Given the description of an element on the screen output the (x, y) to click on. 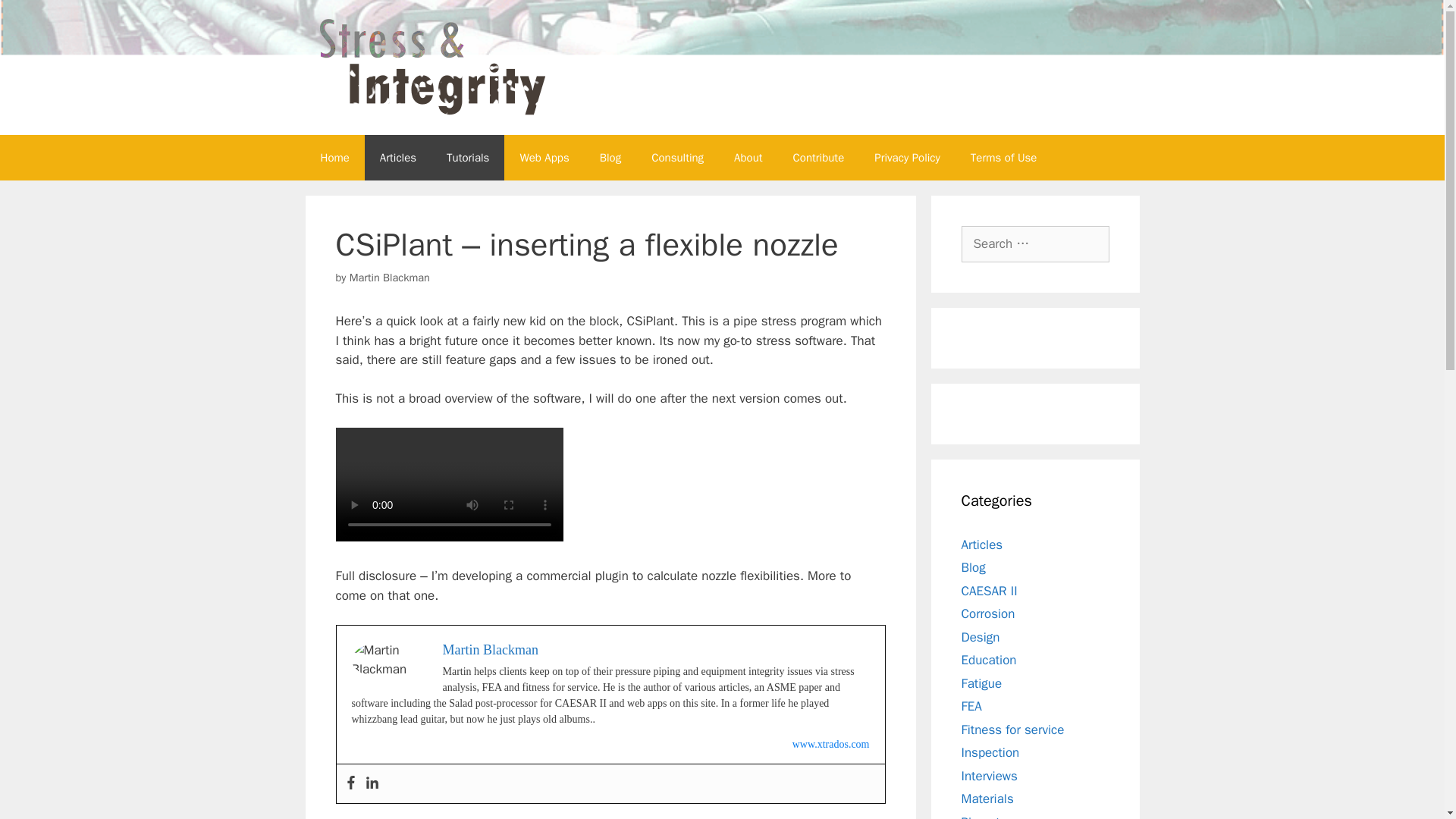
Articles (981, 544)
www.xtrados.com (830, 744)
Fatigue (981, 682)
Privacy Policy (907, 157)
Design (980, 637)
FEA (970, 706)
Search for: (1034, 244)
Blog (972, 567)
Materials (986, 798)
Martin Blackman (490, 649)
